Given the description of an element on the screen output the (x, y) to click on. 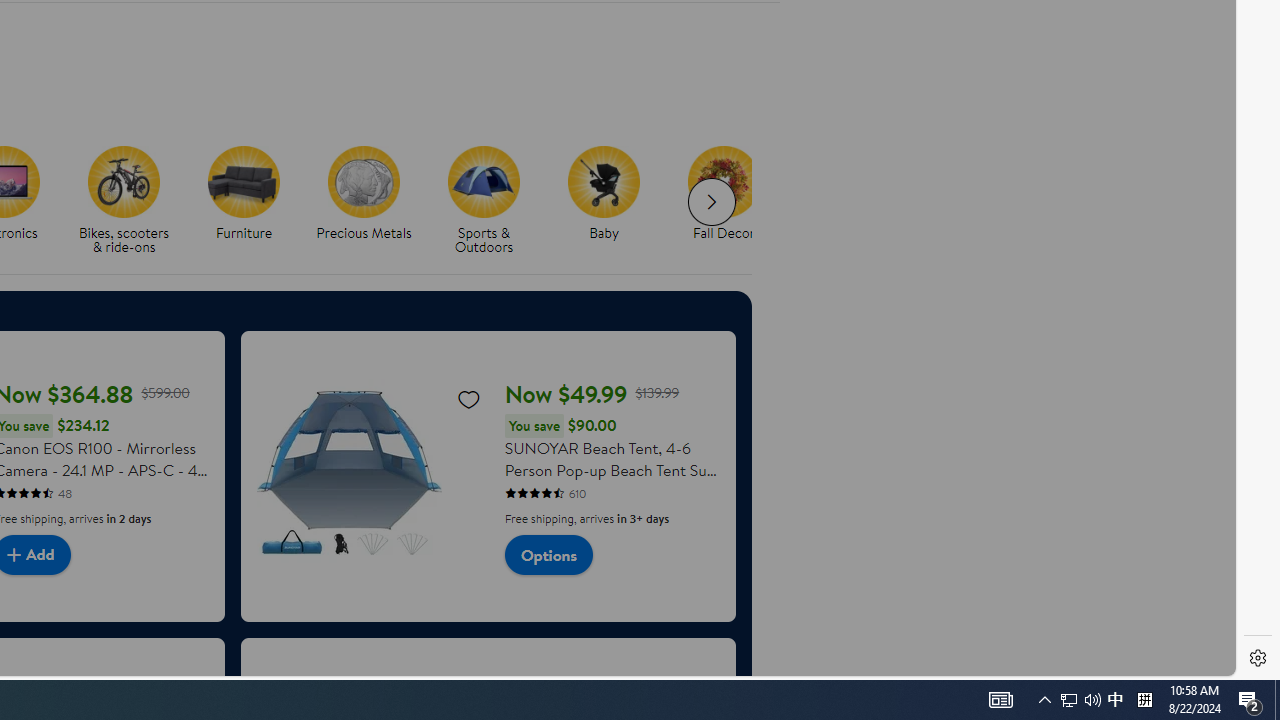
Furniture (243, 181)
Furniture (252, 200)
Precious Metals (363, 181)
Bikes, scooters & ride-ons Bikes, scooters & ride-ons (123, 200)
Baby (604, 181)
Fall Decor (724, 181)
Precious Metals Precious Metals (364, 194)
Fall Decor Fall Decor (723, 194)
Precious Metals (372, 200)
Sports & Outdoors (483, 181)
Sports & Outdoors (491, 200)
Bikes, scooters & ride-ons (131, 200)
